Given the description of an element on the screen output the (x, y) to click on. 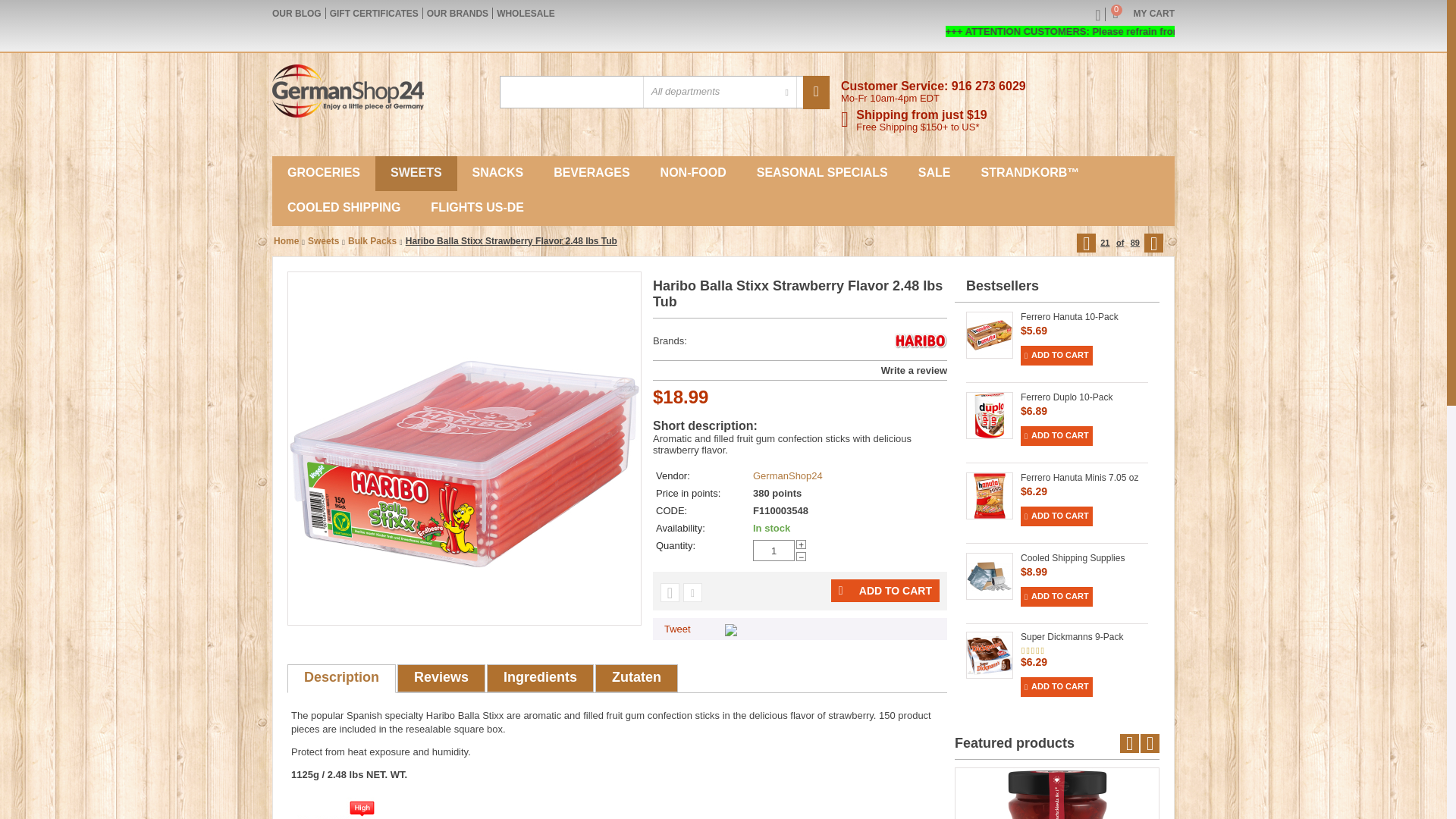
GROCERIES (323, 173)
1 (773, 550)
OUR BRANDS (1143, 13)
OUR BLOG (456, 13)
GIFT CERTIFICATES (296, 13)
WHOLESALE (374, 13)
